Given the description of an element on the screen output the (x, y) to click on. 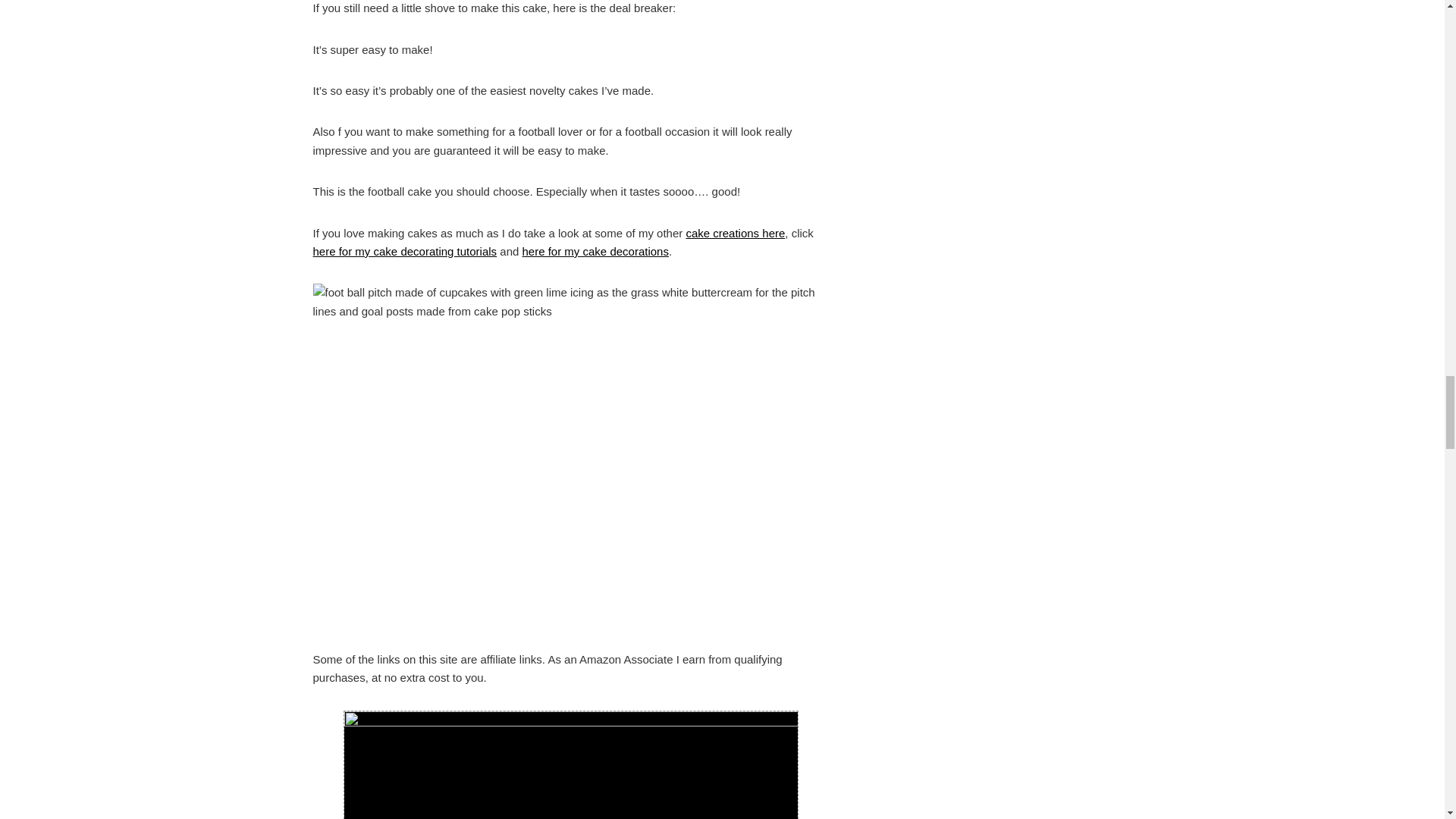
cake creations here (734, 232)
here for my cake decorations (594, 250)
here for my cake decorating tutorials (404, 250)
